Given the description of an element on the screen output the (x, y) to click on. 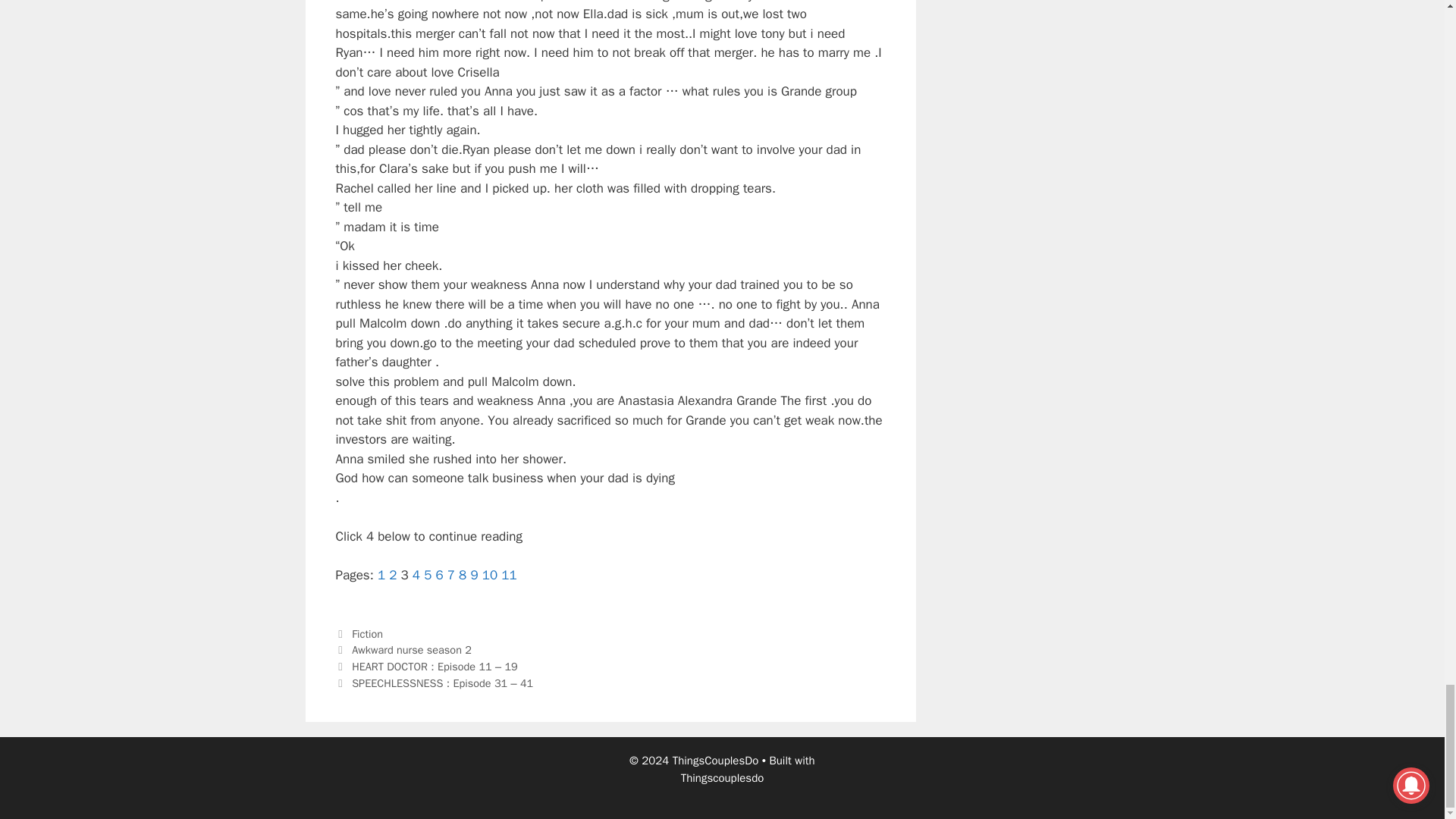
Fiction (367, 633)
11 (508, 575)
Thingscouplesdo (722, 777)
Awkward nurse season 2 (411, 649)
10 (489, 575)
